Given the description of an element on the screen output the (x, y) to click on. 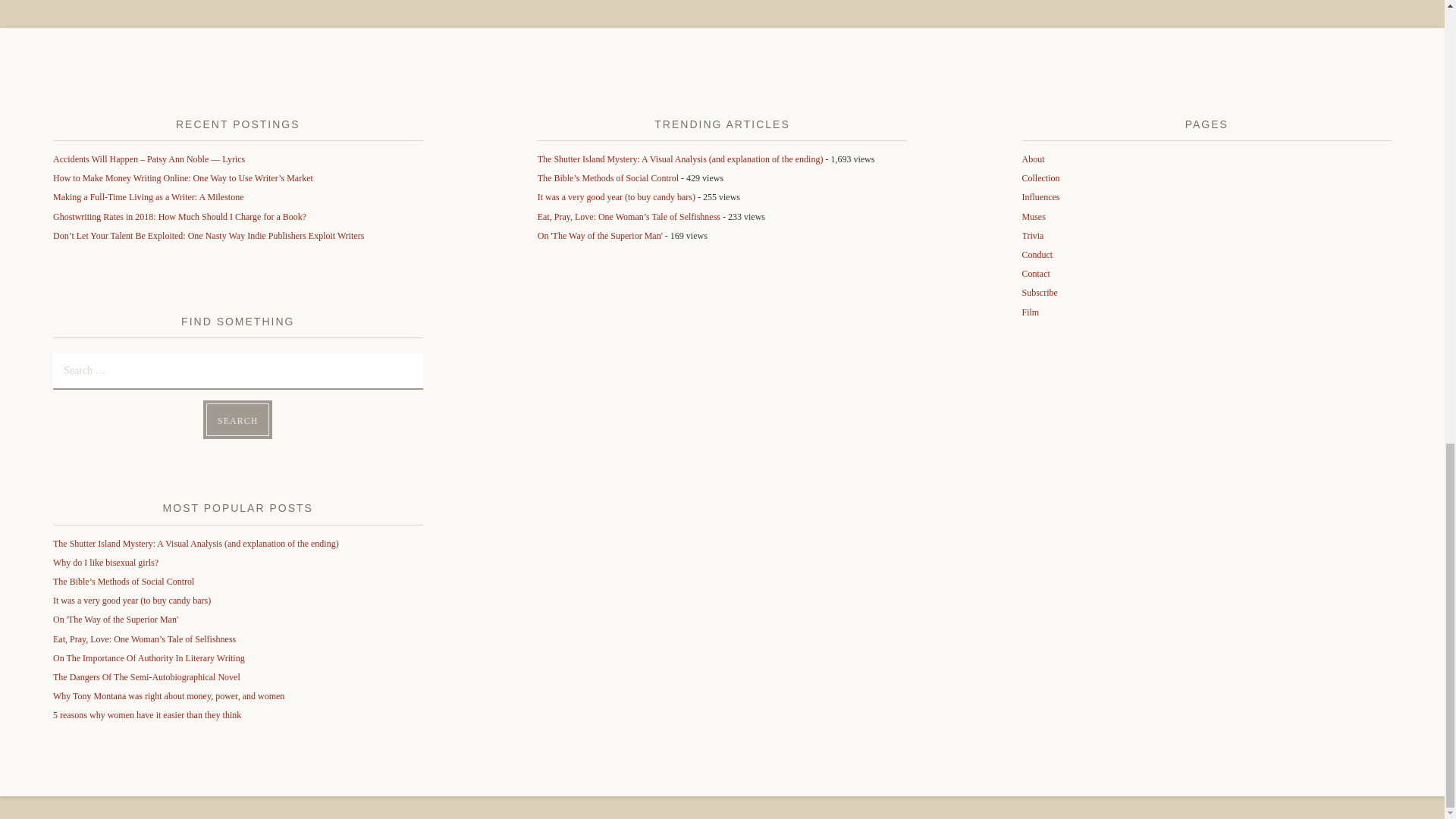
Why Tony Montana was right about money, power, and women (167, 696)
Search (237, 419)
Why do I like bisexual girls? (105, 562)
On The Importance Of Authority In Literary Writing (148, 657)
On 'The Way of the Superior Man' (114, 619)
5 reasons why women have it easier than they think (146, 715)
The Dangers Of The Semi-Autobiographical Novel (146, 676)
Search (237, 419)
